Given the description of an element on the screen output the (x, y) to click on. 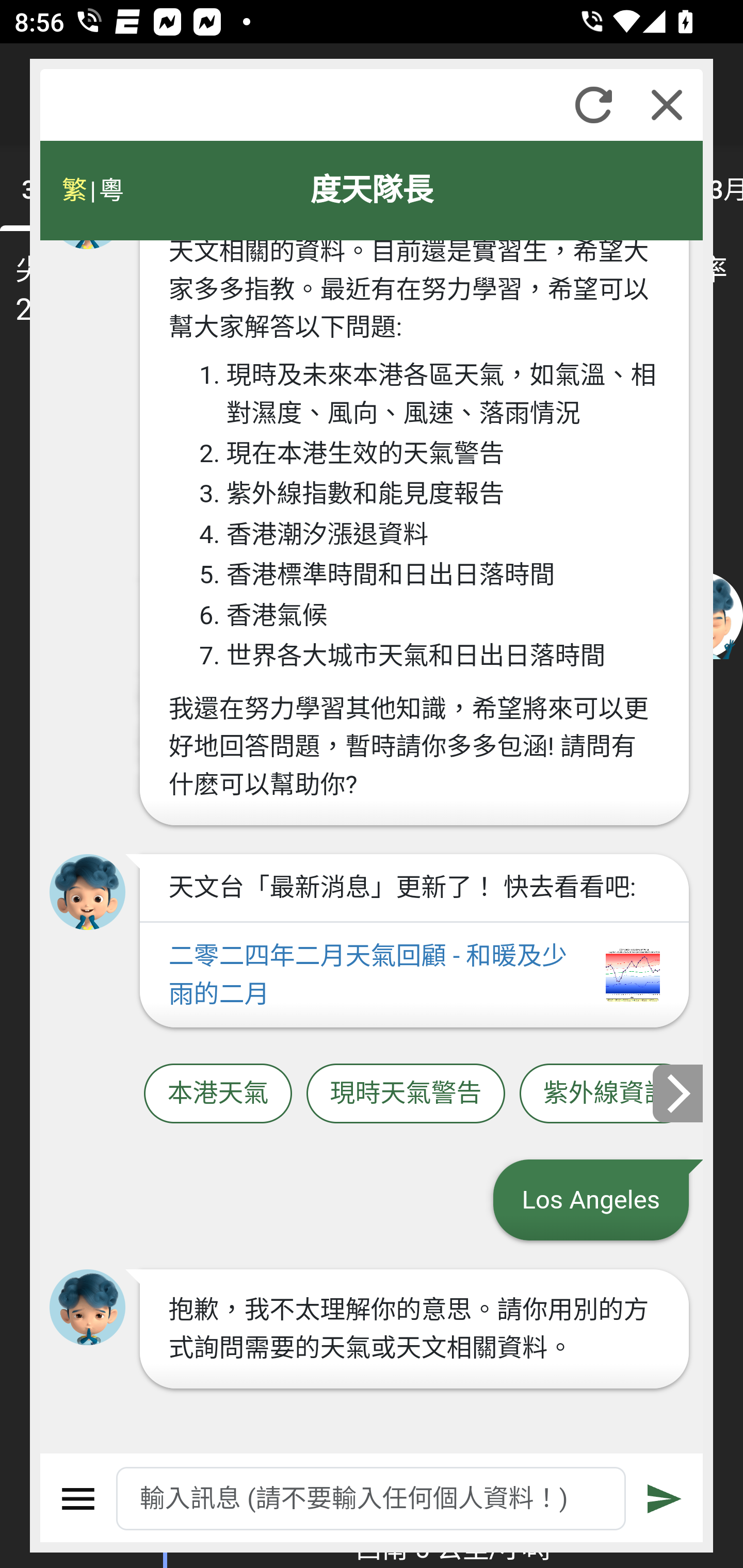
重新整理 (593, 104)
關閉 (666, 104)
繁 (73, 190)
粵 (110, 190)
二零二四年二月天氣回顧 - 和暖及少雨的二月 (413, 974)
本港天氣 (217, 1093)
現時天氣警告 (405, 1093)
紫外線資訊 (605, 1093)
下一張 (678, 1092)
選單 (78, 1498)
遞交 (665, 1498)
